Given the description of an element on the screen output the (x, y) to click on. 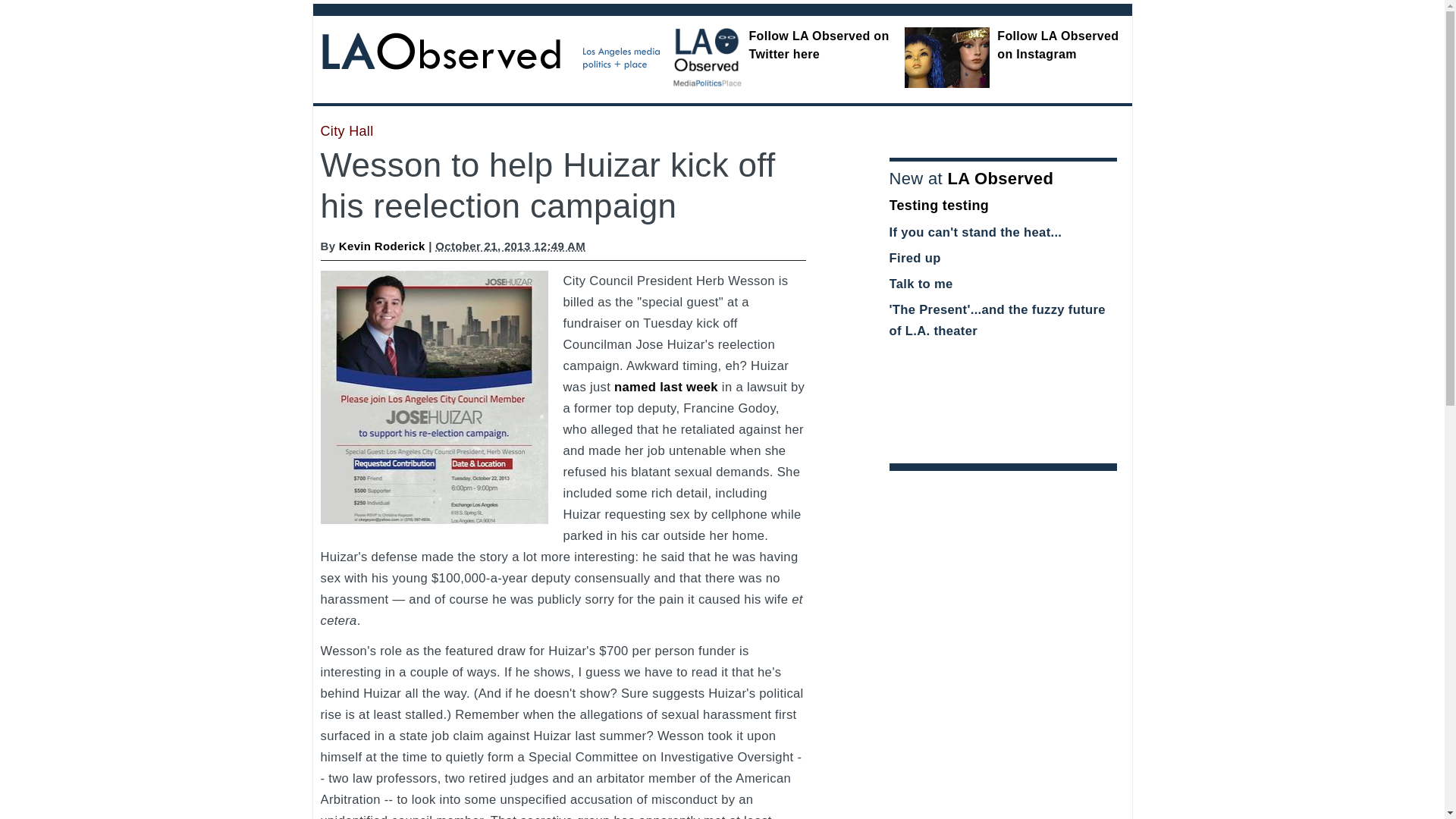
LA Observed (999, 178)
'The Present'...and the fuzzy future of L.A. theater (996, 320)
Fired up (914, 257)
2013-10-21T00:49:49-08:00 (510, 245)
Kevin Roderick (382, 245)
Follow LA Observed on Twitter here (819, 44)
Follow LA Observed on Instagram (1057, 44)
Testing testing (938, 205)
Talk to me (920, 283)
If you can't stand the heat... (974, 232)
named last week (665, 386)
